Given the description of an element on the screen output the (x, y) to click on. 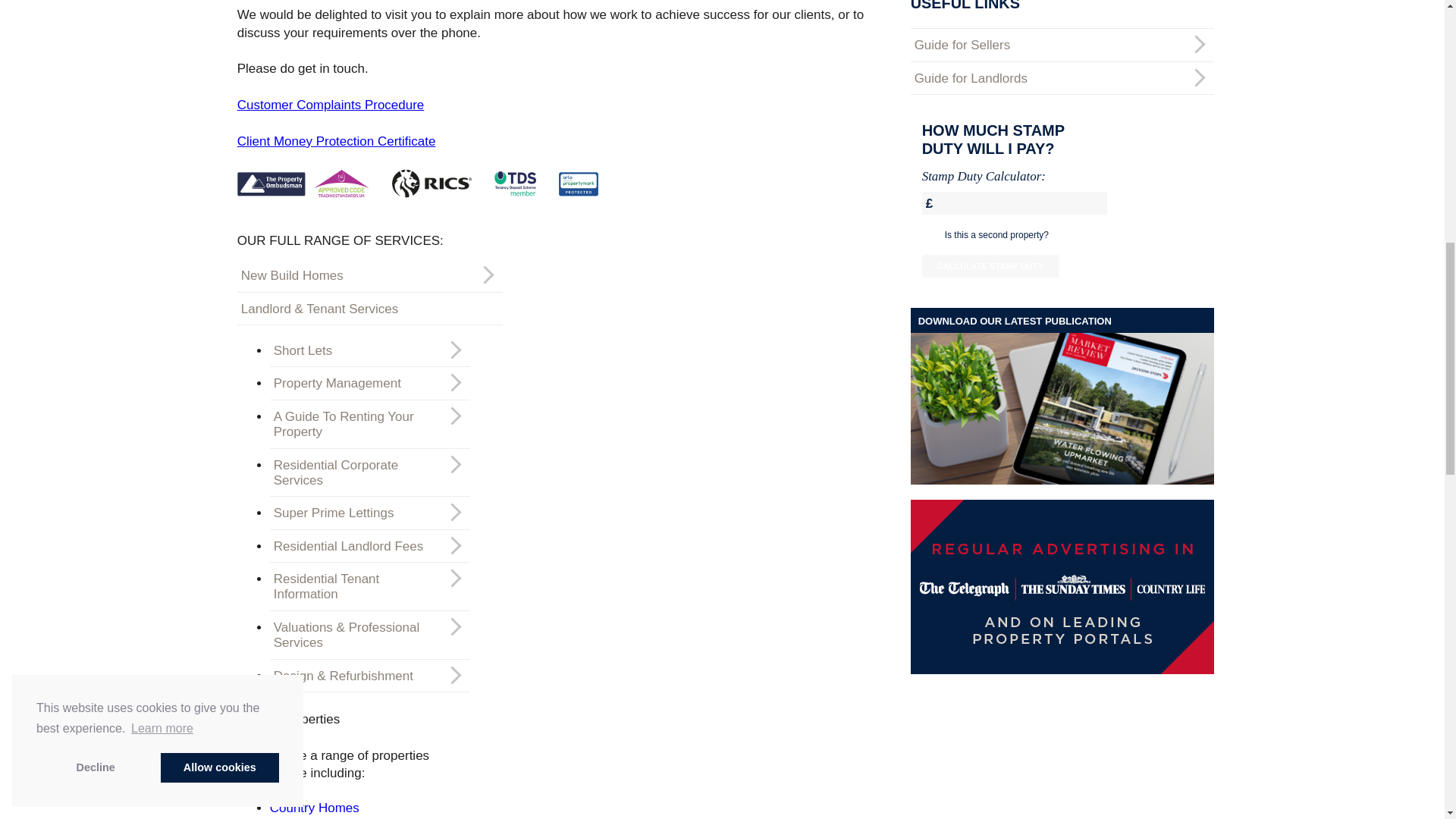
CALCULATE STAMP DUTY (989, 265)
